Given the description of an element on the screen output the (x, y) to click on. 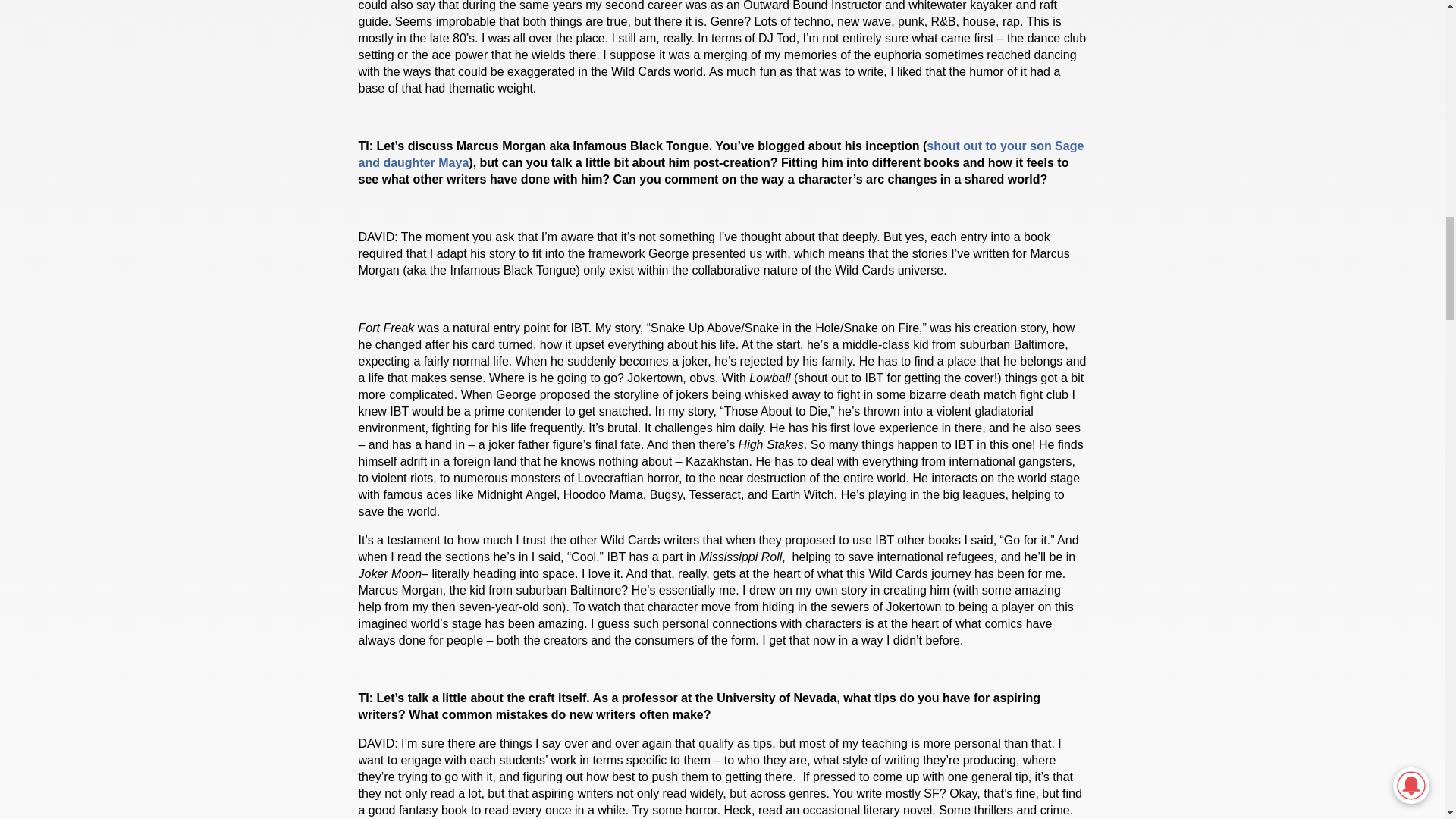
shout out to your son Sage and daughter Maya (720, 153)
